Given the description of an element on the screen output the (x, y) to click on. 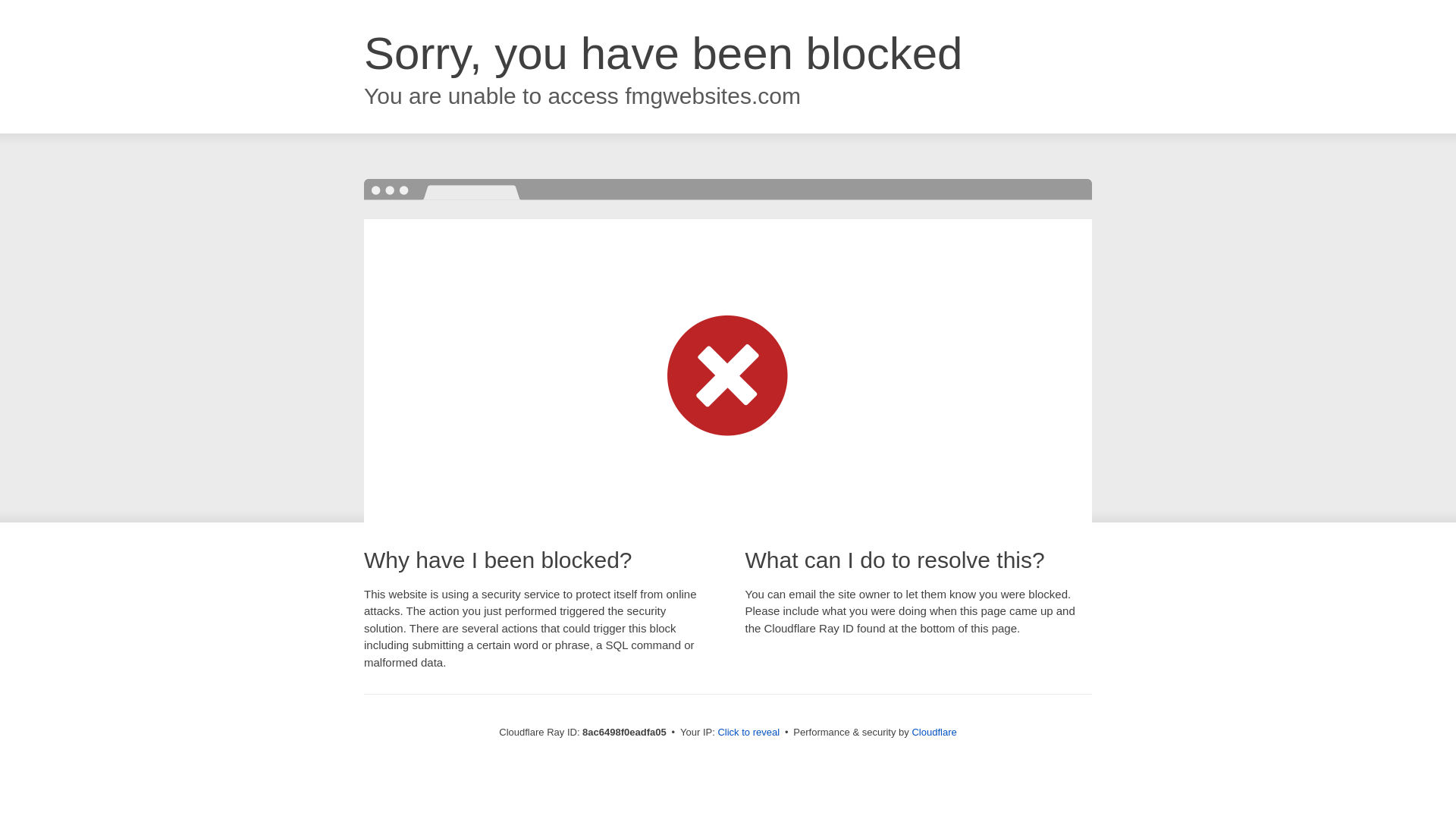
Cloudflare (933, 731)
Click to reveal (747, 732)
